Given the description of an element on the screen output the (x, y) to click on. 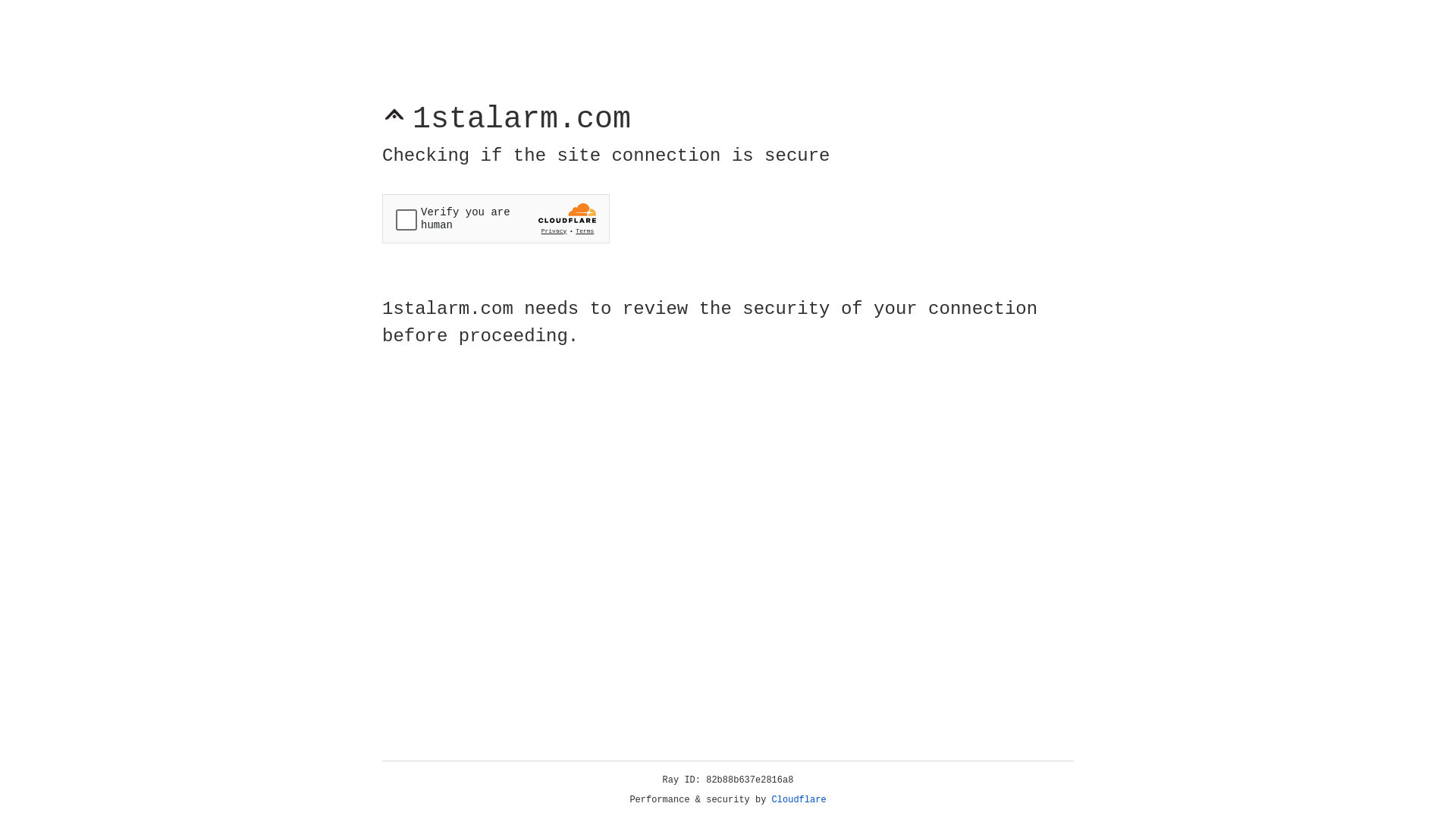
Widget containing a Cloudflare security challenge Element type: hover (495, 218)
Cloudflare Element type: text (798, 799)
